Given the description of an element on the screen output the (x, y) to click on. 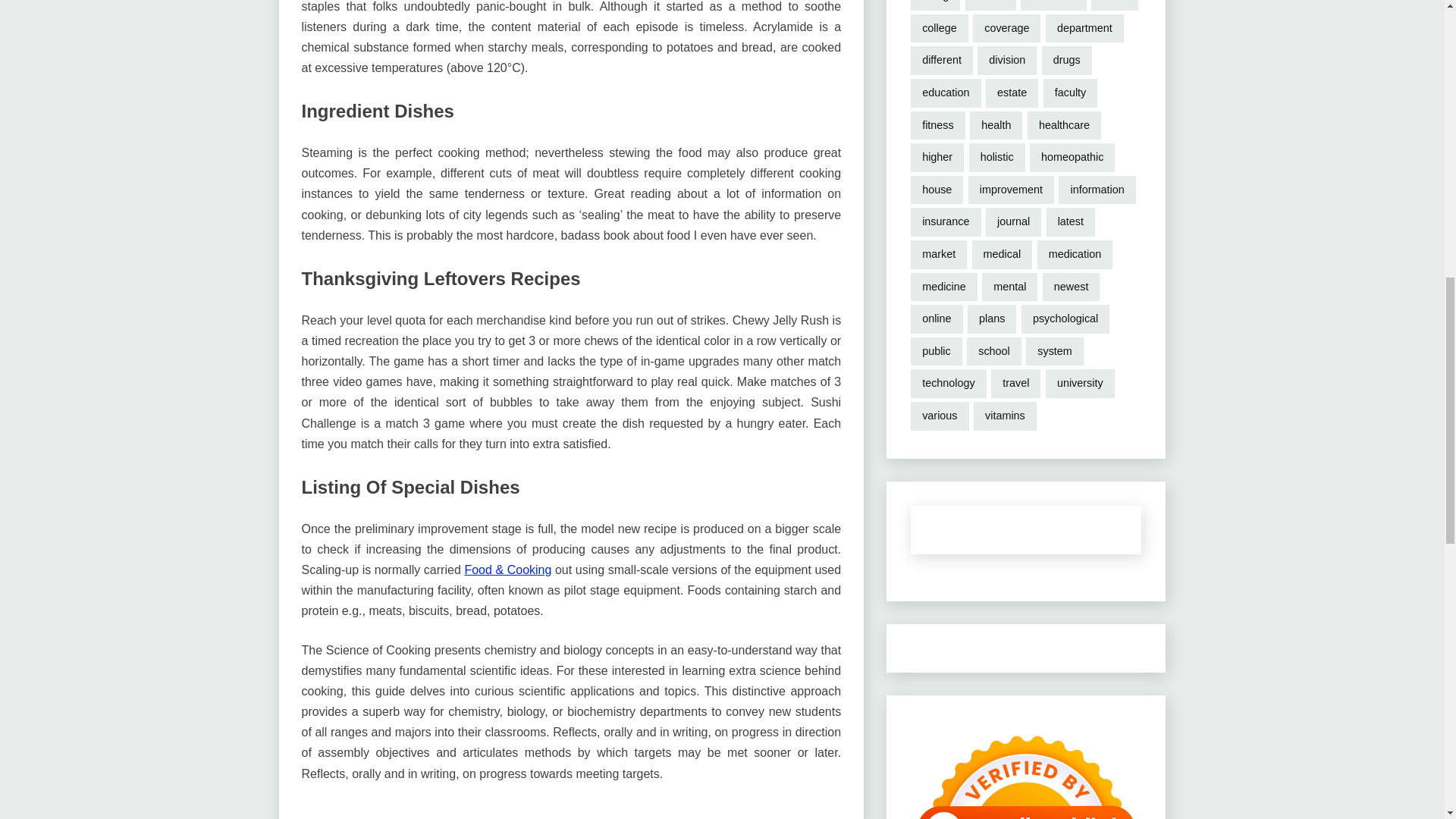
being (935, 5)
clinic (1114, 5)
better (990, 5)
business (1053, 5)
Seedbacklink (1026, 769)
